Given the description of an element on the screen output the (x, y) to click on. 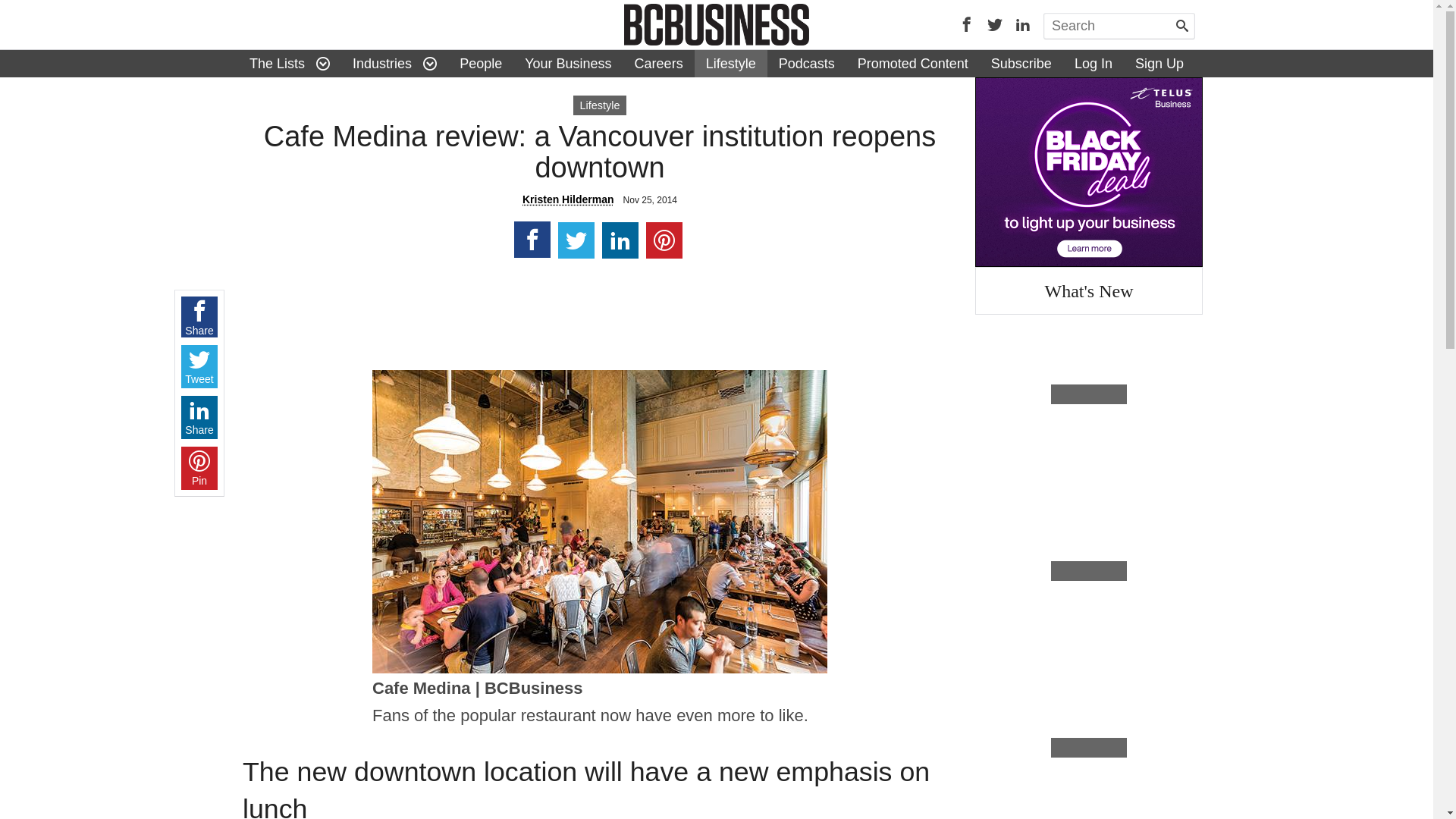
People Element type: text (480, 63)
Your Business Element type: text (567, 63)
Share Element type: text (199, 316)
The Lists Element type: text (276, 63)
Log In Element type: text (1093, 63)
Tweet Element type: text (199, 366)
Promoted Content Element type: text (912, 63)
Kristen Hilderman Element type: text (568, 199)
Subscribe Element type: text (1021, 63)
Careers Element type: text (658, 63)
Share Element type: text (199, 417)
Lifestyle Element type: text (731, 63)
Lifestyle Element type: text (599, 105)
Industries Element type: text (381, 63)
3rd party ad content Element type: hover (599, 317)
Pin Element type: text (199, 467)
3rd party ad content Element type: hover (1088, 171)
Podcasts Element type: text (806, 63)
Sign Up Element type: text (1159, 63)
